Given the description of an element on the screen output the (x, y) to click on. 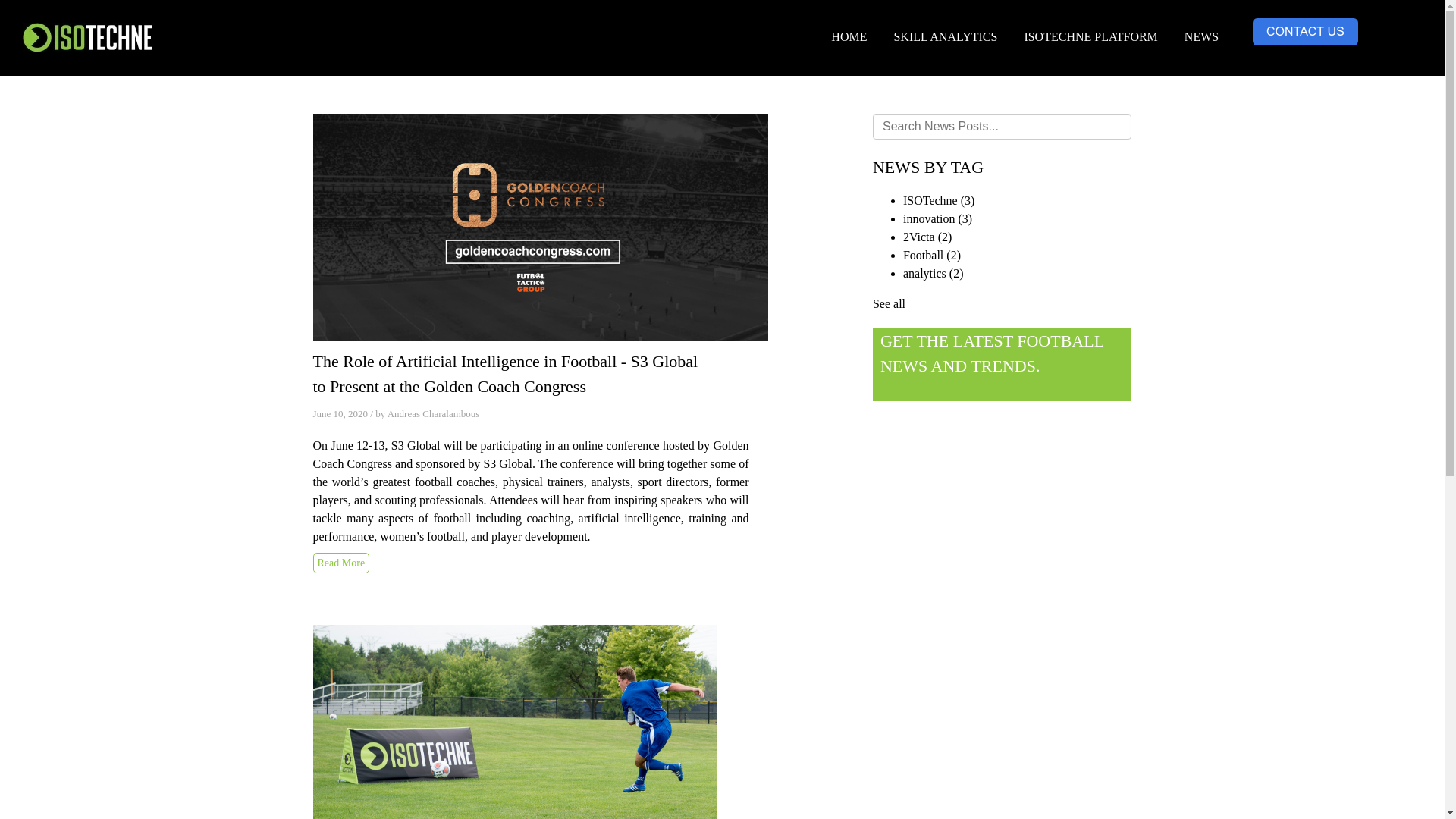
ISOTECHNE PLATFORM (1090, 36)
Read More (341, 562)
Andreas Charalambous (433, 413)
SKILL ANALYTICS (945, 36)
NEWS (1201, 36)
logo.jpg (88, 37)
See all (888, 303)
HOME (848, 36)
